Given the description of an element on the screen output the (x, y) to click on. 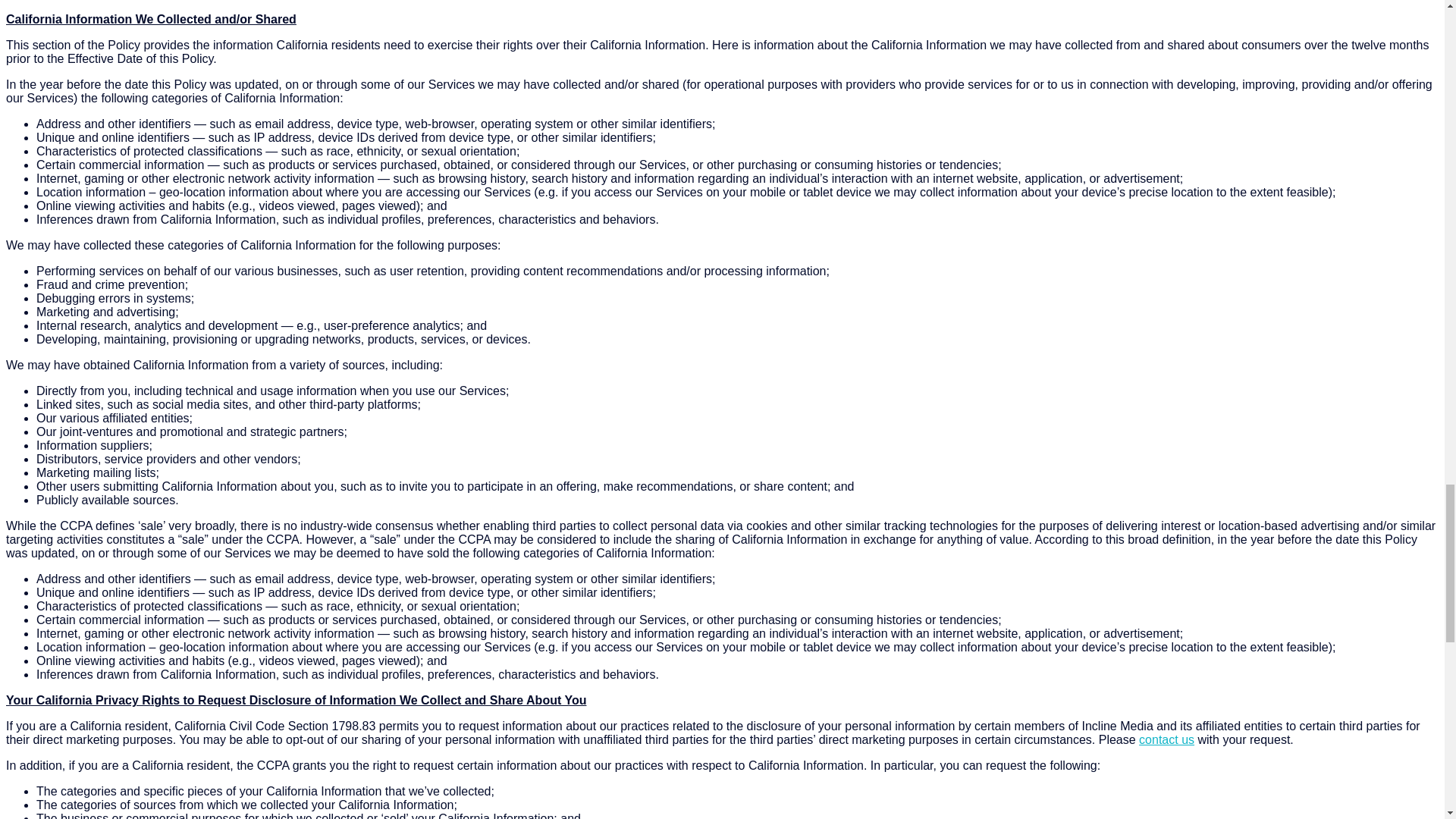
contact us (1165, 739)
